Given the description of an element on the screen output the (x, y) to click on. 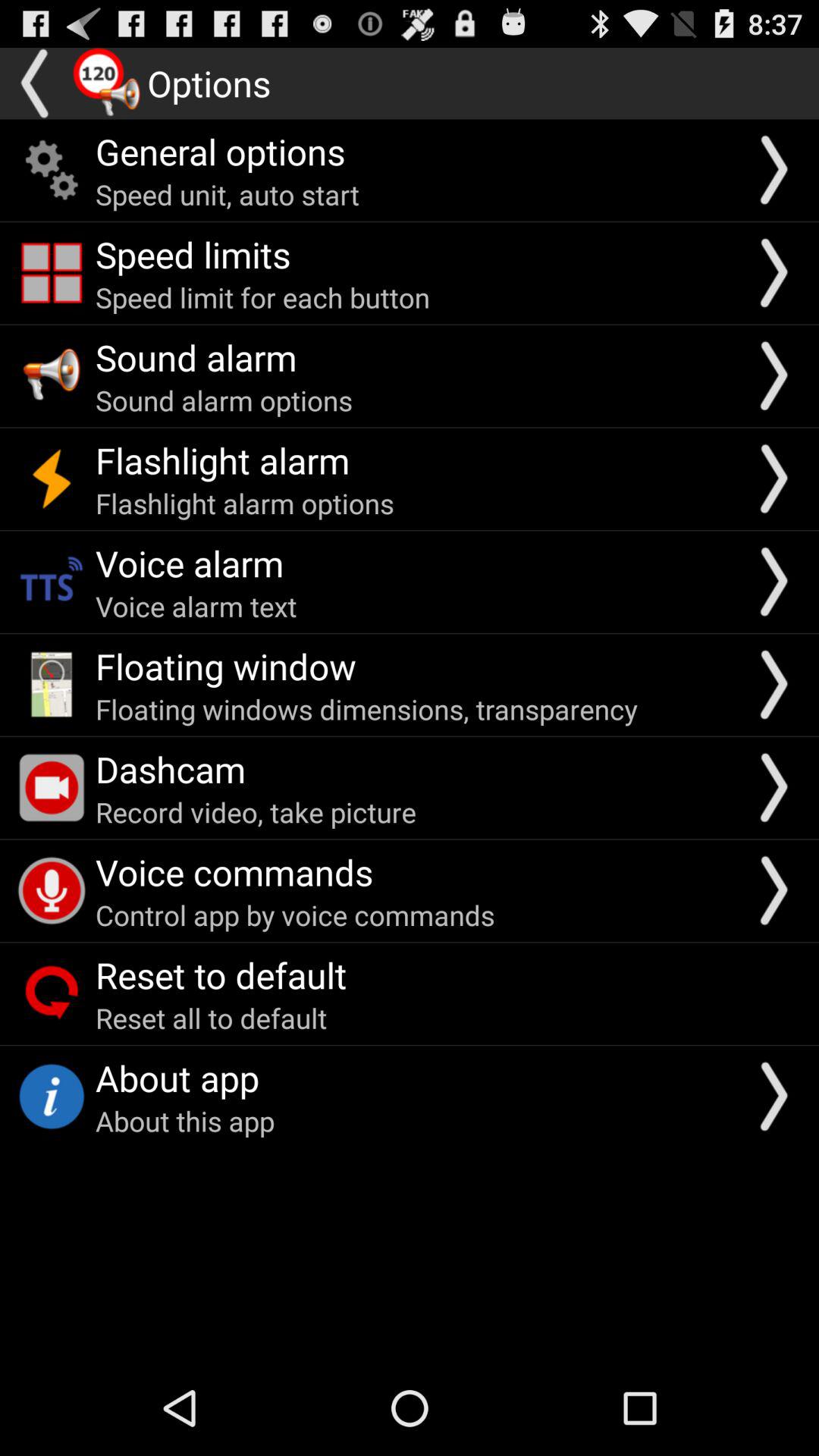
tap icon above voice commands icon (255, 811)
